Given the description of an element on the screen output the (x, y) to click on. 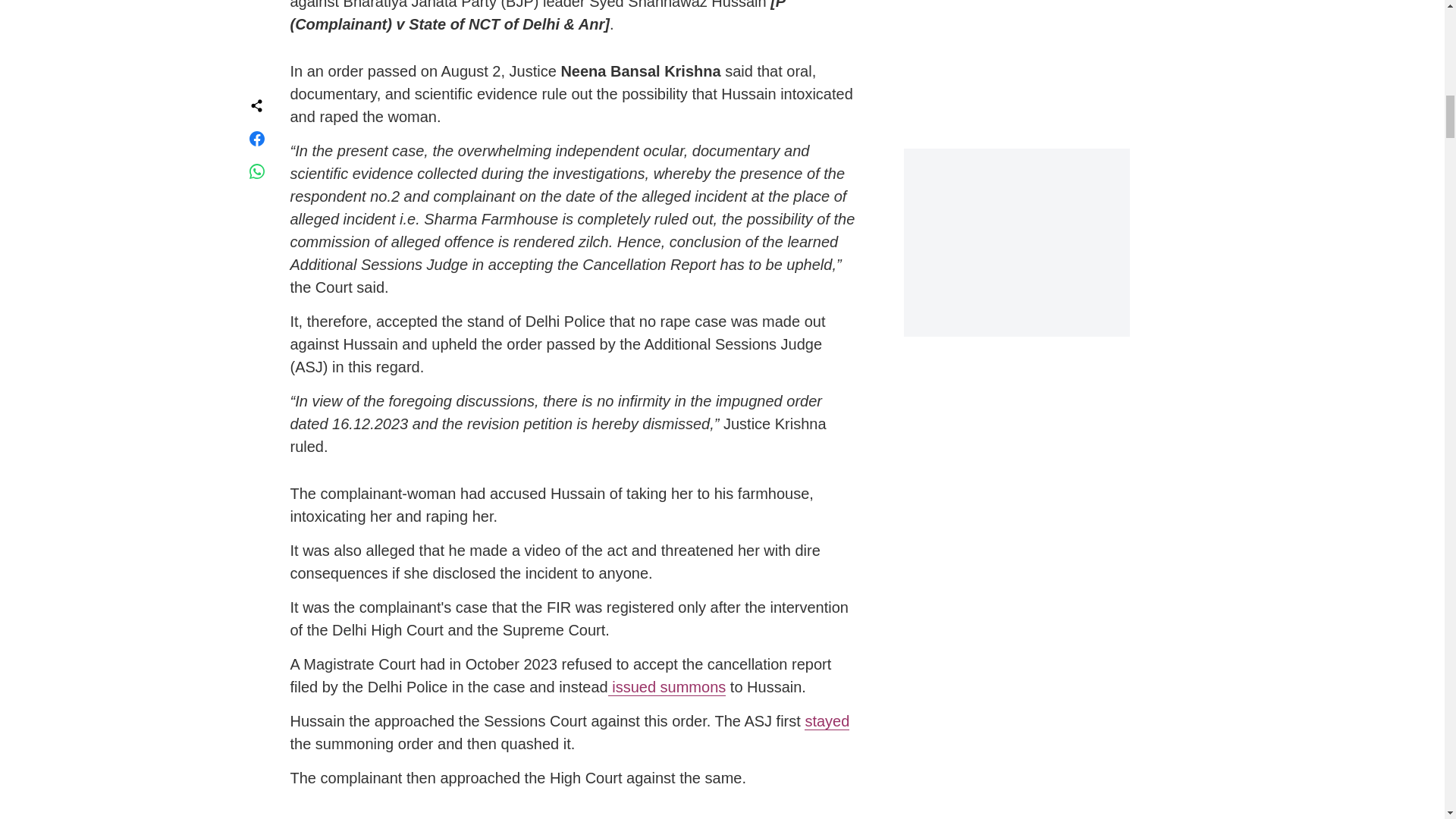
issued summons (667, 687)
stayed (826, 721)
